Given the description of an element on the screen output the (x, y) to click on. 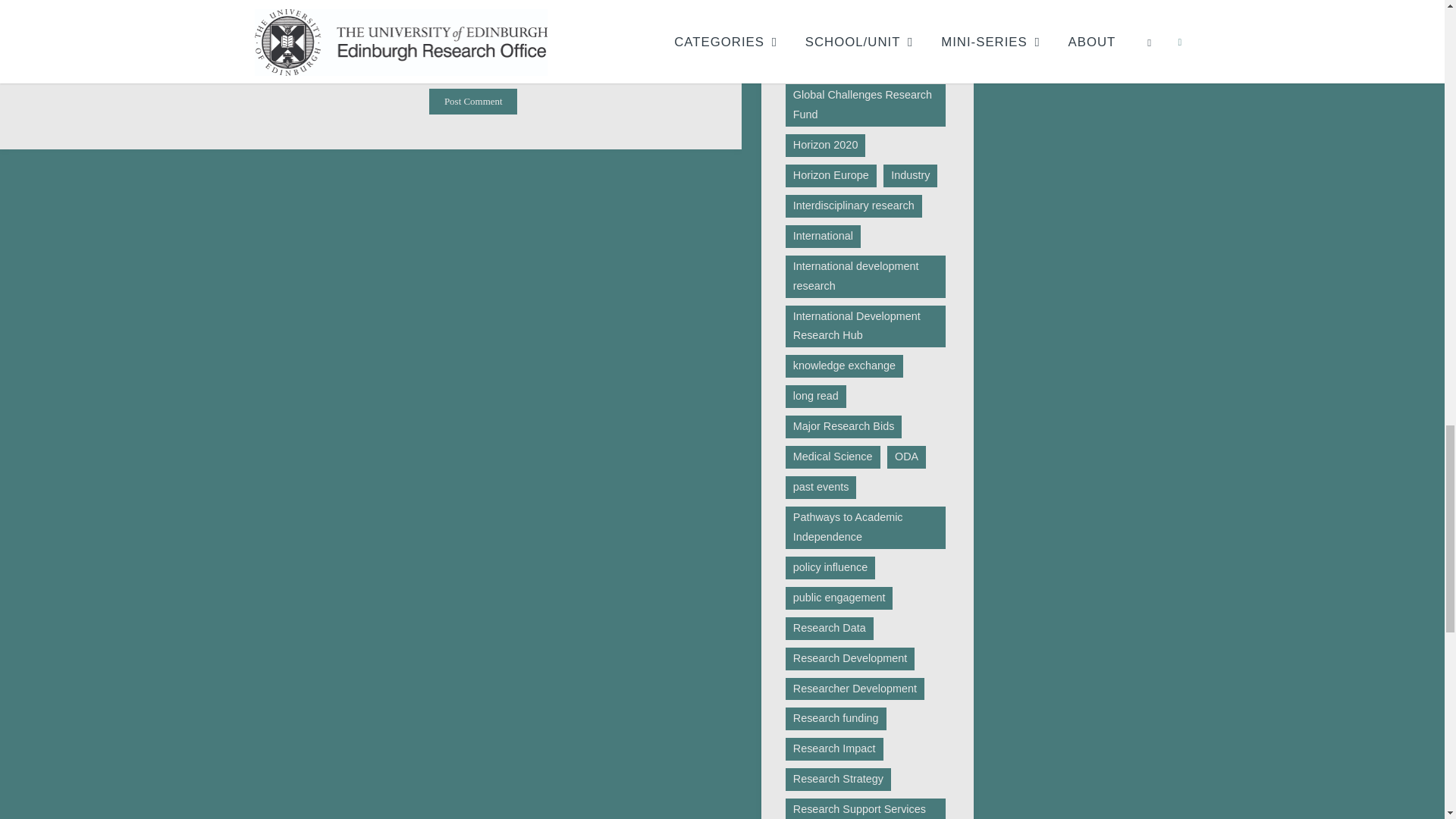
yes (32, 66)
Post Comment (472, 101)
